Given the description of an element on the screen output the (x, y) to click on. 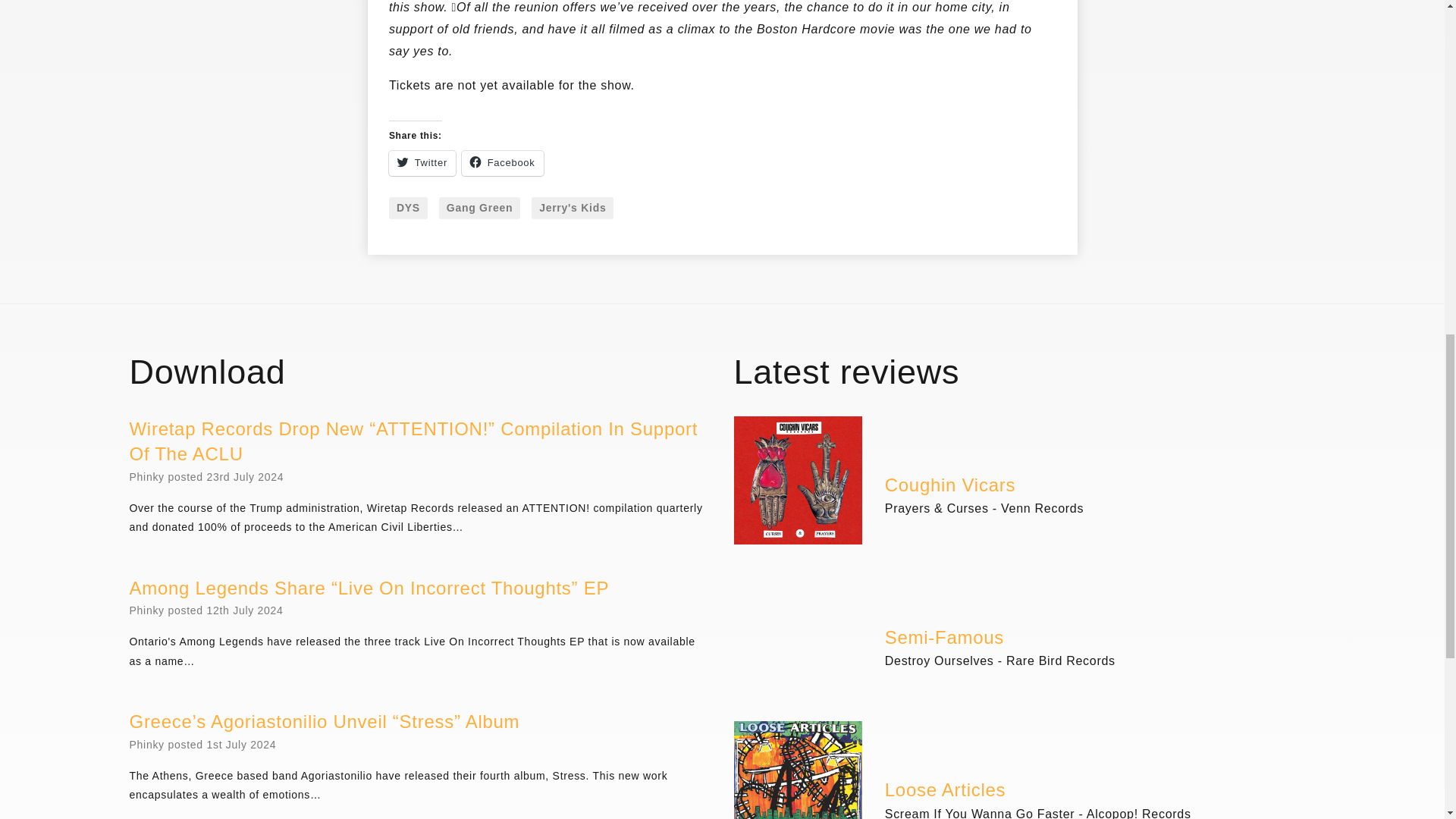
Gang Green (479, 208)
Facebook (502, 163)
Coughin Vicars (949, 486)
Click to share on Facebook (502, 163)
Jerry's Kids (571, 208)
Click to share on Twitter (421, 163)
DYS (408, 208)
Semi-Famous (944, 638)
Loose Articles (945, 790)
Twitter (421, 163)
